Given the description of an element on the screen output the (x, y) to click on. 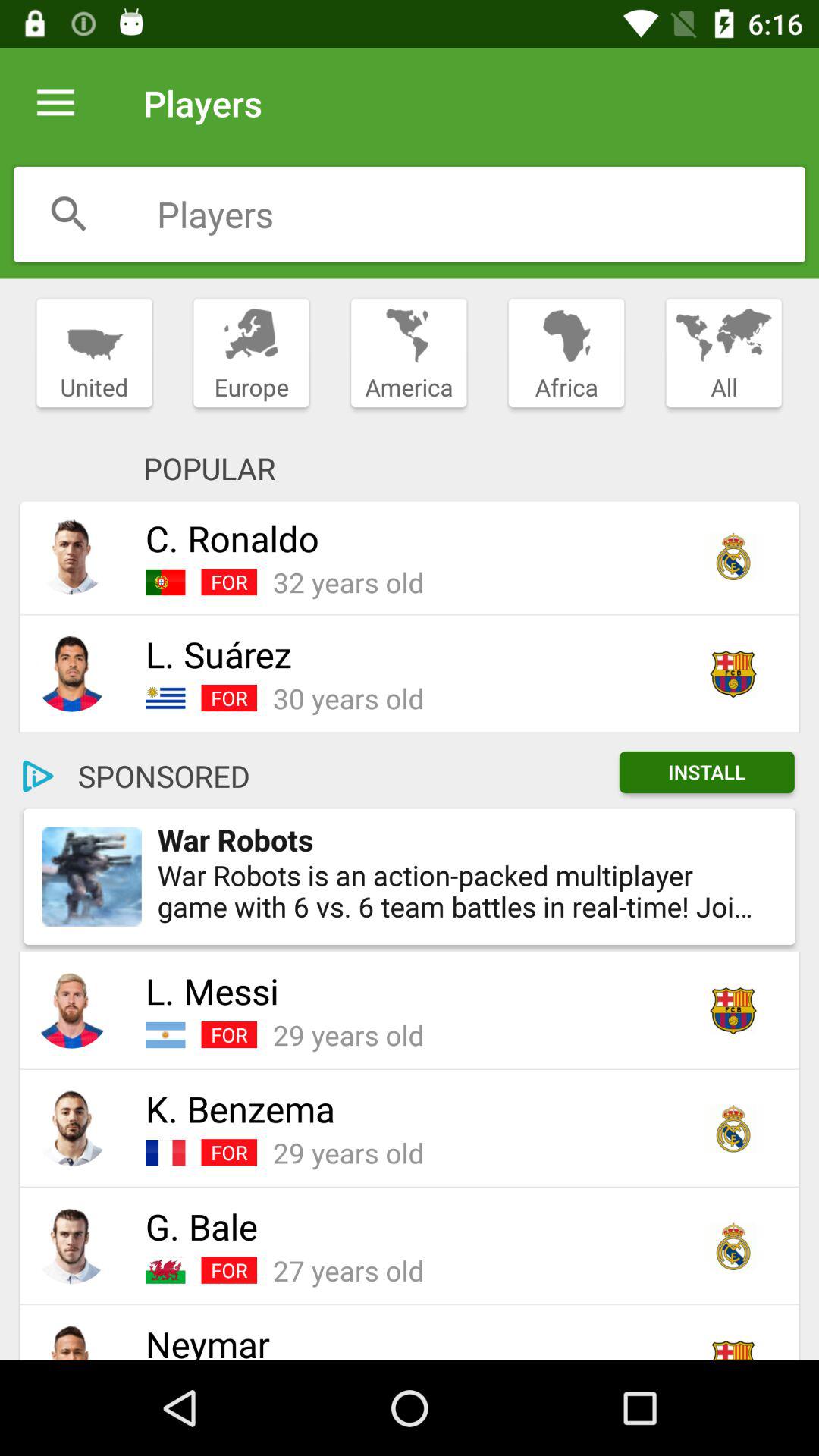
search players (69, 214)
